Given the description of an element on the screen output the (x, y) to click on. 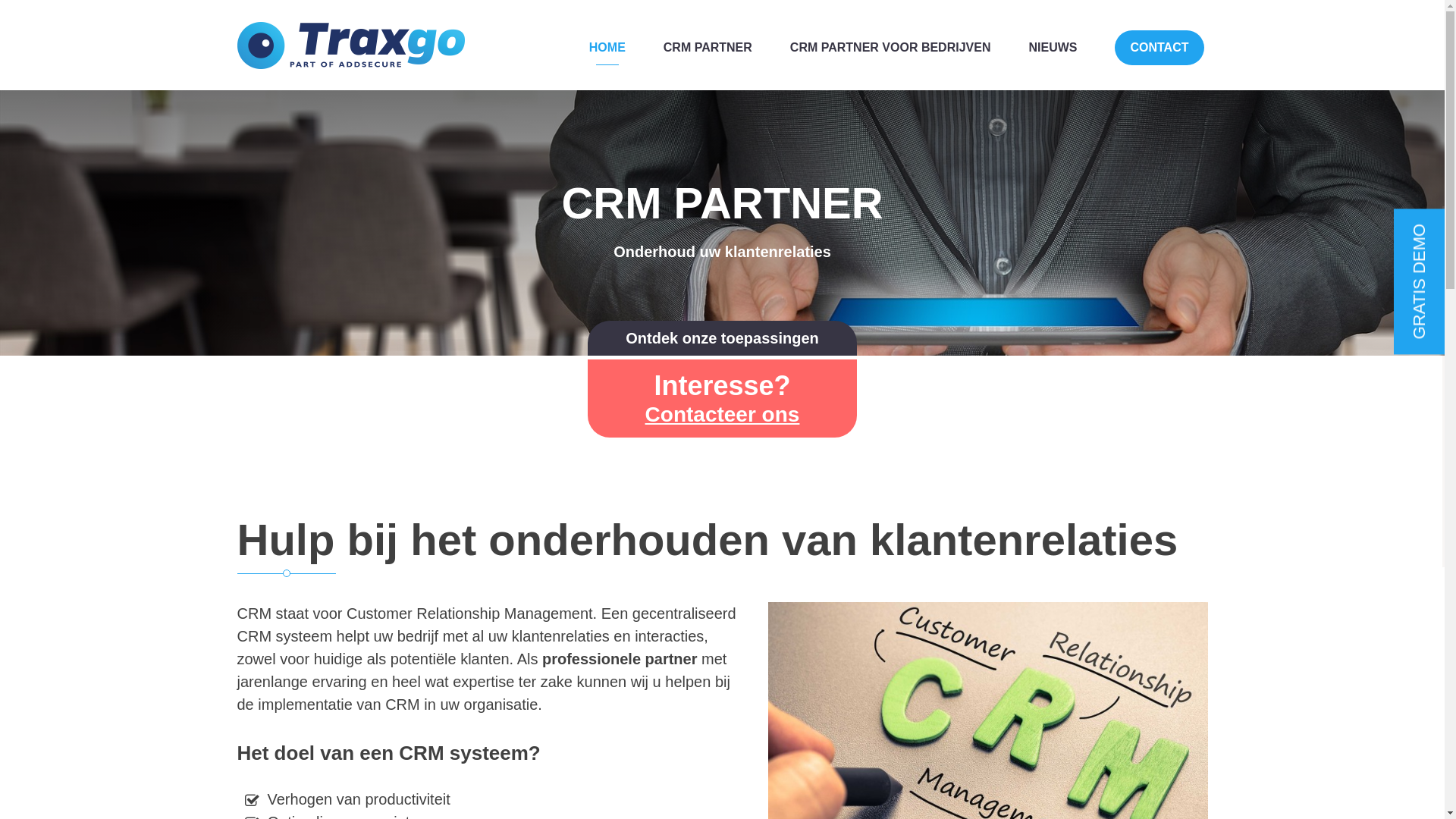
CRM PARTNER Element type: text (707, 47)
CONTACT Element type: text (1158, 47)
NIEUWS Element type: text (1052, 47)
HOME Element type: text (607, 47)
CRM PARTNER VOOR BEDRIJVEN Element type: text (890, 47)
Ontdek onze toepassingen Element type: text (721, 337)
Traxgo Element type: text (350, 44)
Interesse?
Contacteer ons Element type: text (721, 398)
